Given the description of an element on the screen output the (x, y) to click on. 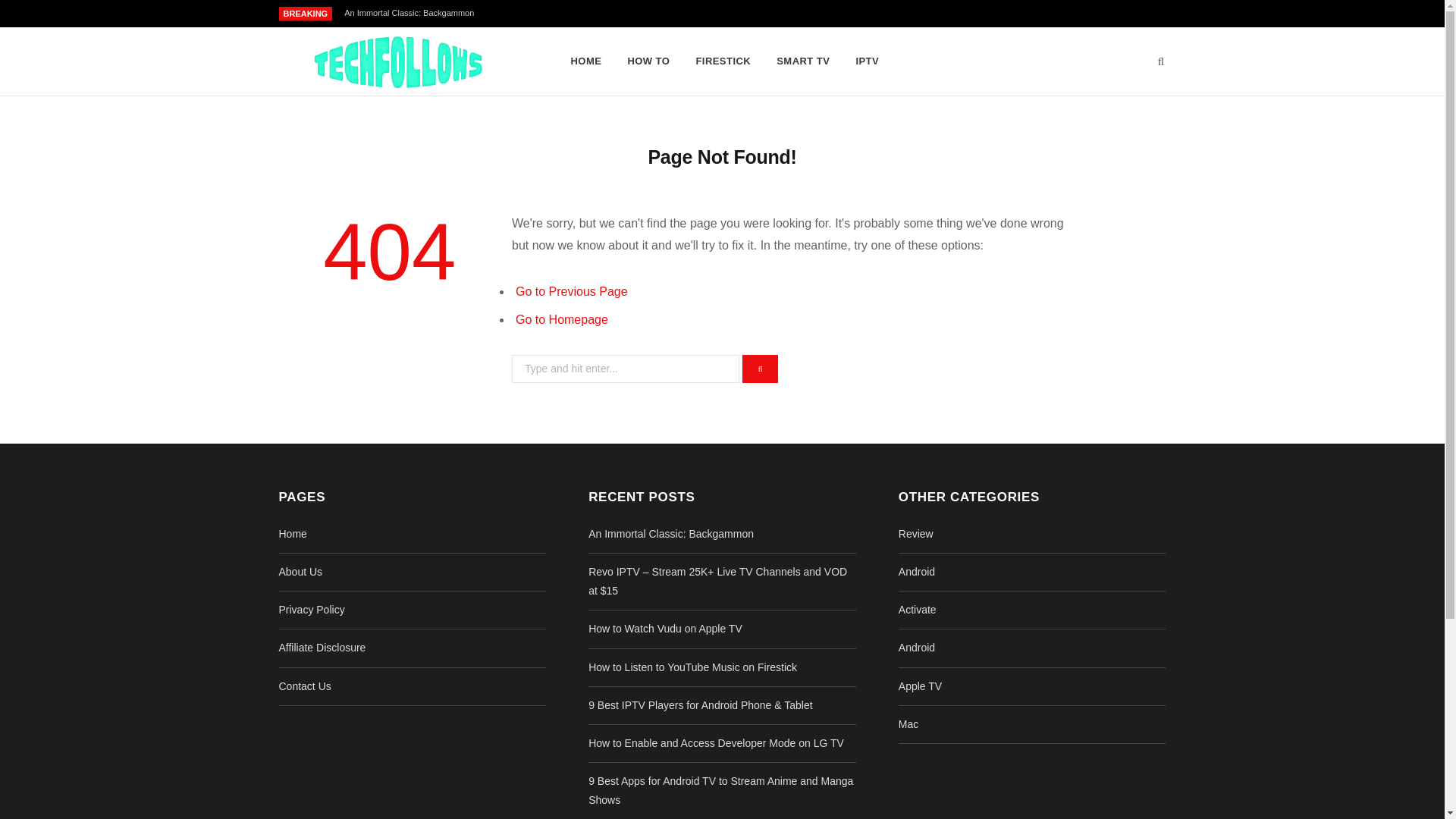
Tech Follows (400, 62)
Privacy Policy (312, 609)
An Immortal Classic: Backgammon (412, 12)
Affiliate Disclosure (322, 647)
Search for: (625, 368)
Go to Homepage (561, 318)
HOW TO (648, 61)
Android (916, 647)
Go to Previous Page (571, 291)
9 Best Apps for Android TV to Stream Anime and Manga Shows (720, 789)
Home (293, 533)
SMART TV (803, 61)
FIRESTICK (722, 61)
Android (916, 571)
An Immortal Classic: Backgammon (671, 533)
